Given the description of an element on the screen output the (x, y) to click on. 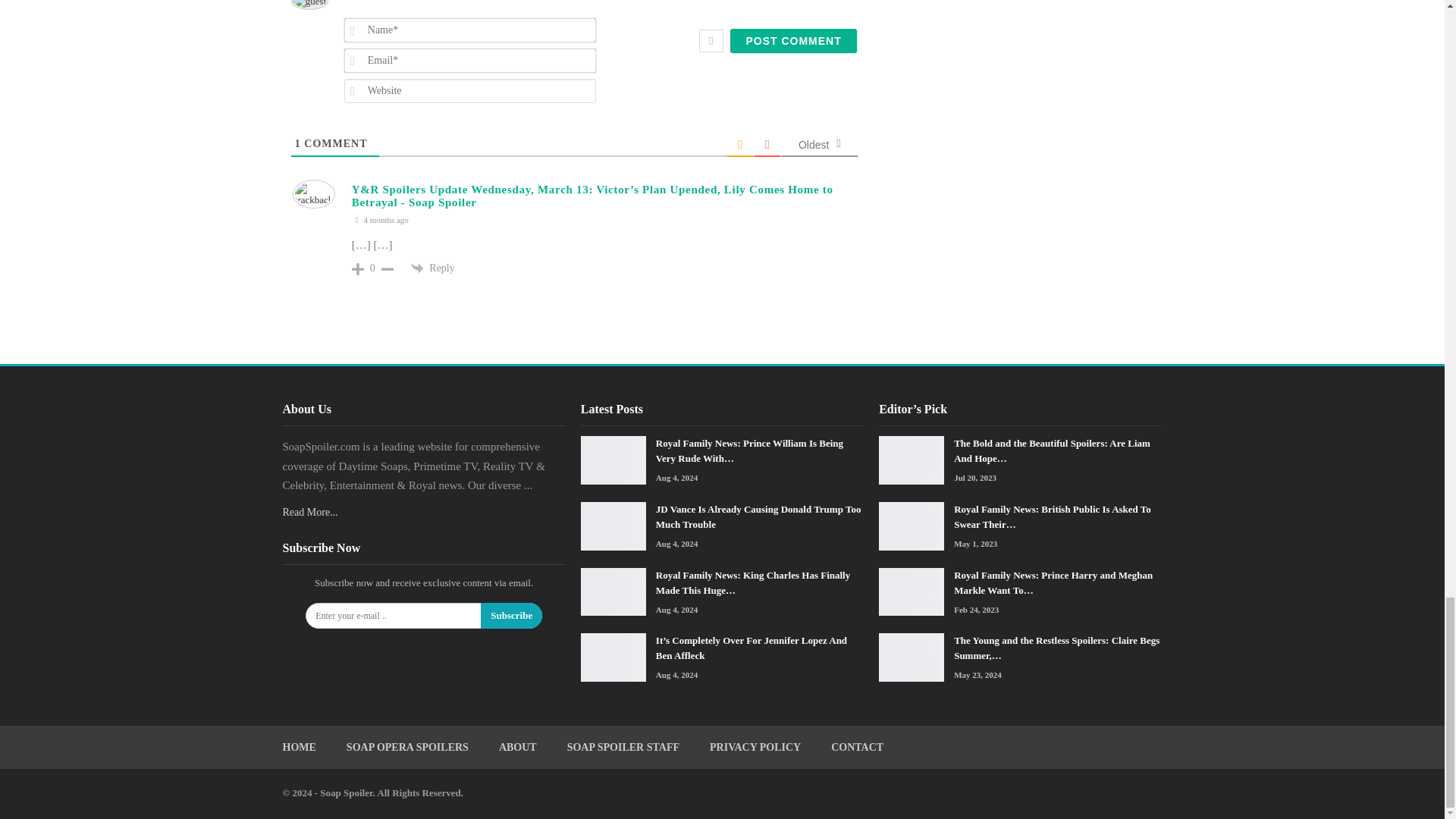
Post Comment (793, 40)
